Given the description of an element on the screen output the (x, y) to click on. 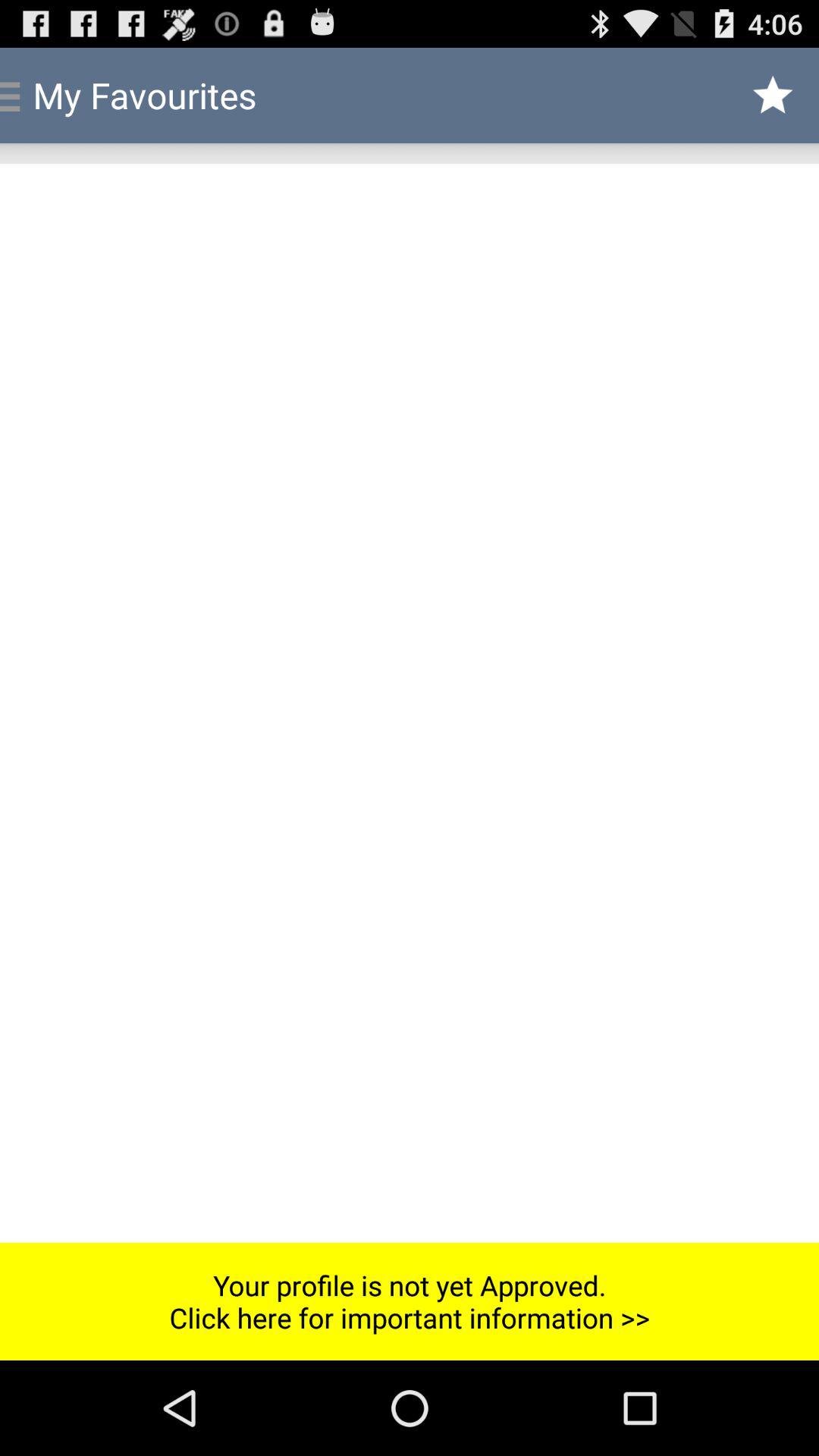
swipe until the your profile is button (409, 1301)
